Given the description of an element on the screen output the (x, y) to click on. 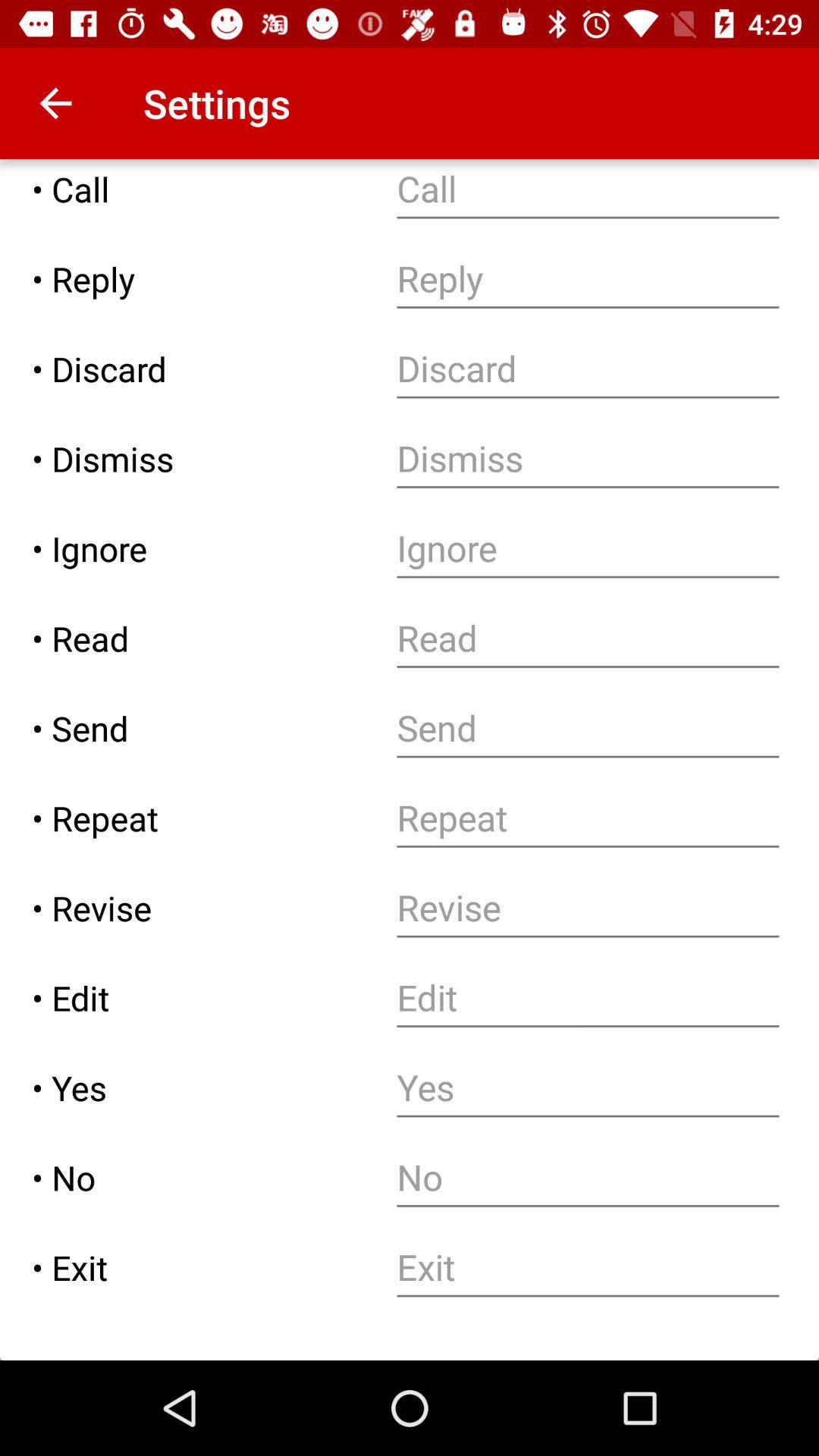
click the icon next to the settings item (55, 103)
